Given the description of an element on the screen output the (x, y) to click on. 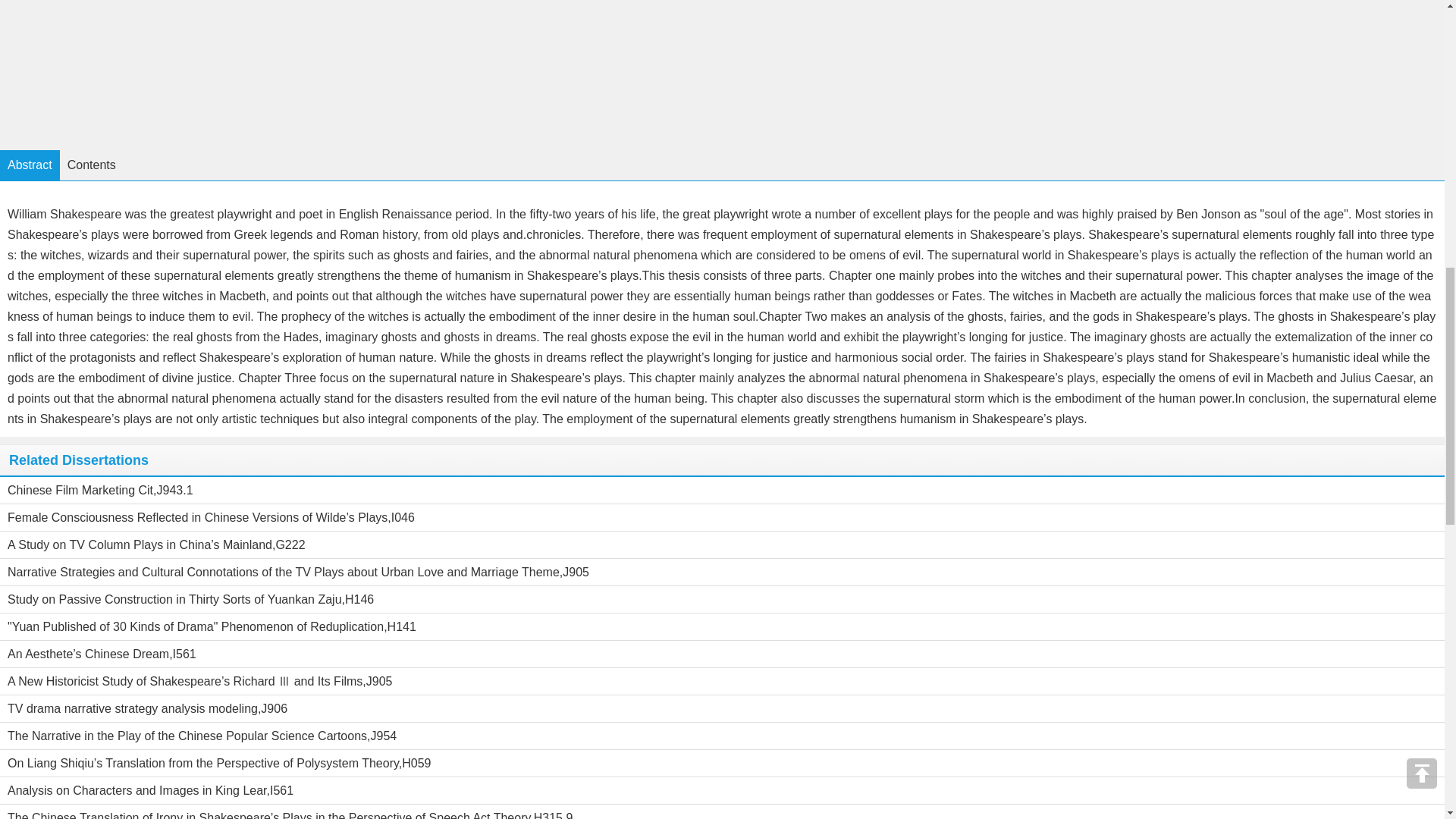
TV drama narrative strategy analysis modeling (132, 707)
Analysis on Characters and Images in King Lear (136, 789)
Shakespeare (84, 214)
plays (938, 214)
Chinese Film Marketing Cit (79, 490)
